Given the description of an element on the screen output the (x, y) to click on. 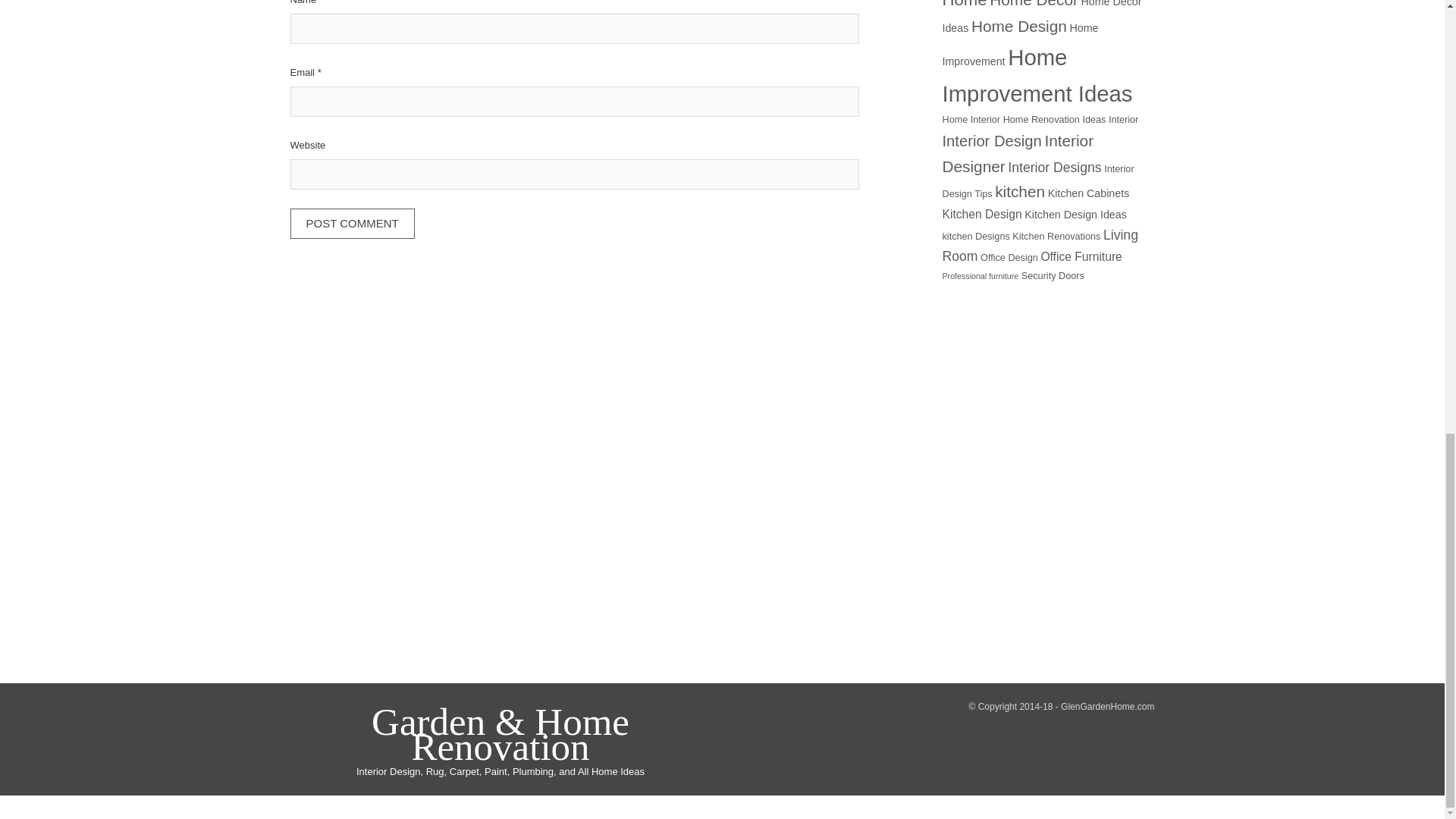
Post Comment (351, 224)
Post Comment (351, 223)
